Given the description of an element on the screen output the (x, y) to click on. 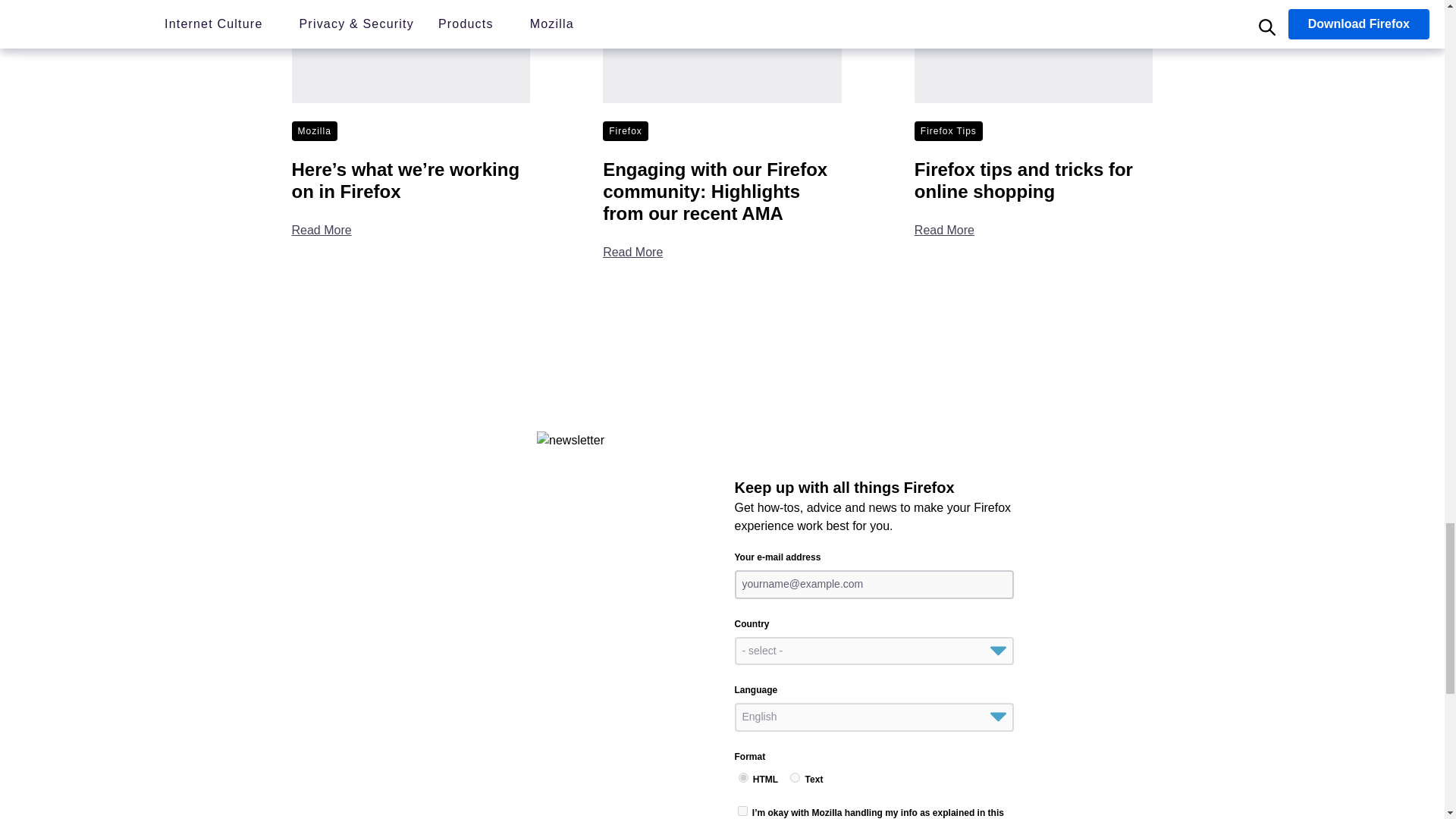
H (743, 777)
on (741, 810)
T (794, 777)
